Given the description of an element on the screen output the (x, y) to click on. 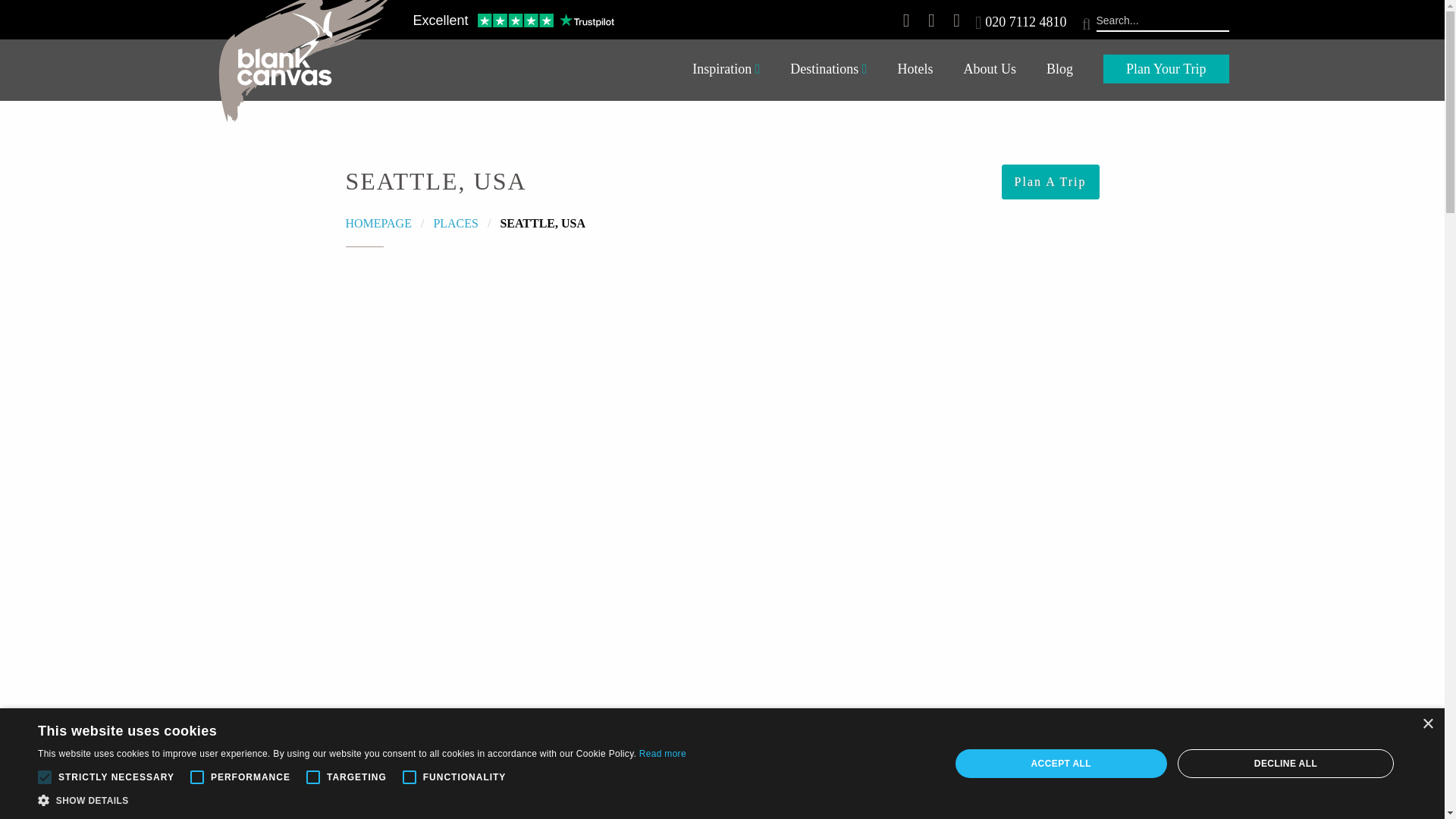
020 7112 4810 (1025, 21)
Homepage (379, 223)
Destinations (828, 69)
Customer reviews powered by Trustpilot (512, 22)
Inspiration (725, 69)
Seattle, USA (542, 223)
Places (455, 223)
